Given the description of an element on the screen output the (x, y) to click on. 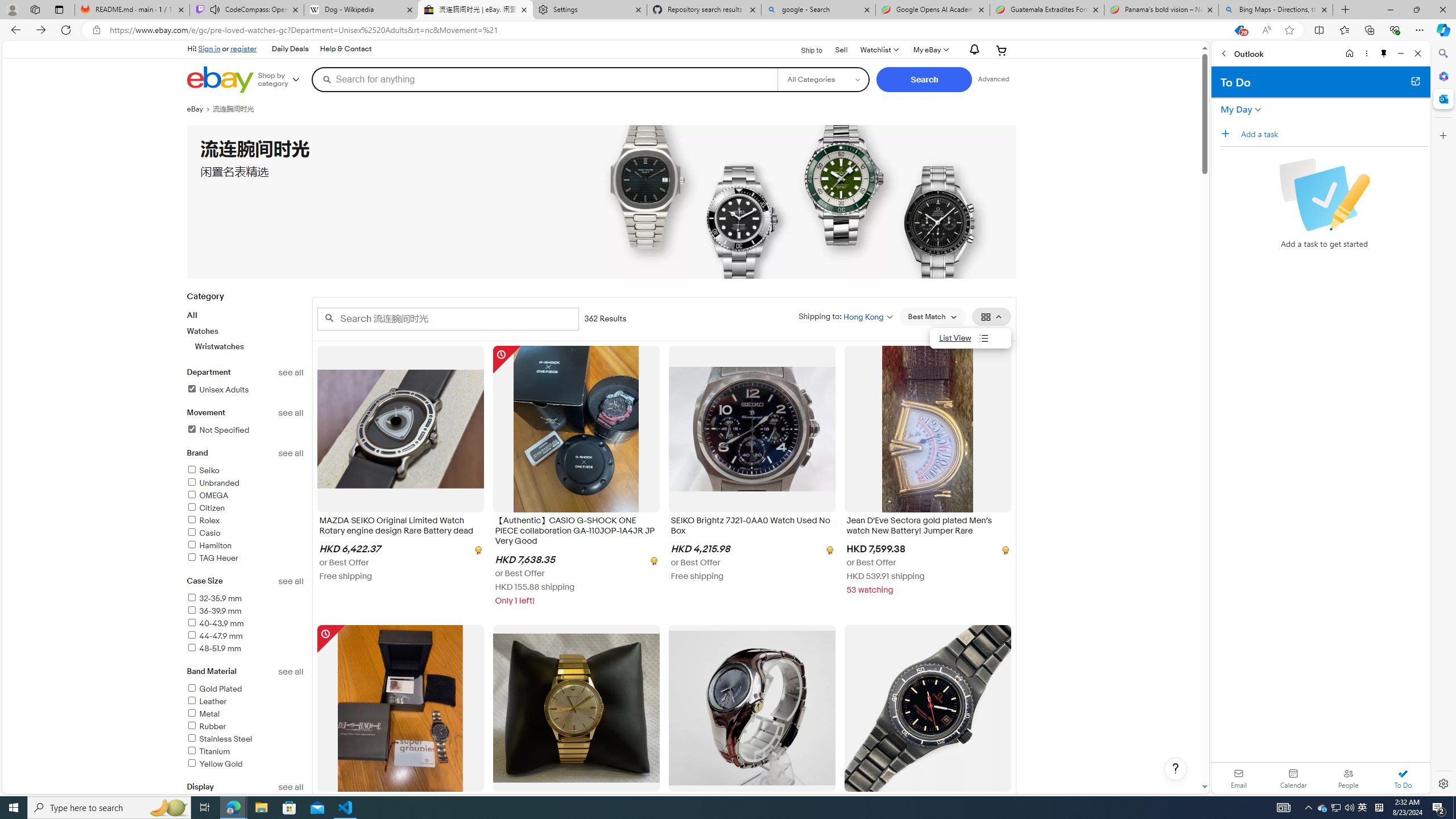
Shipping to: Hong Kong (845, 316)
Unisex AdultsFilter Applied (245, 389)
Casio (245, 533)
Gold Plated (213, 688)
Leather (206, 700)
Unbranded (245, 483)
Sign in (209, 48)
Select a category for search (823, 78)
Sort: Best Match (932, 316)
eBay Home (219, 79)
My Day (1236, 109)
